Given the description of an element on the screen output the (x, y) to click on. 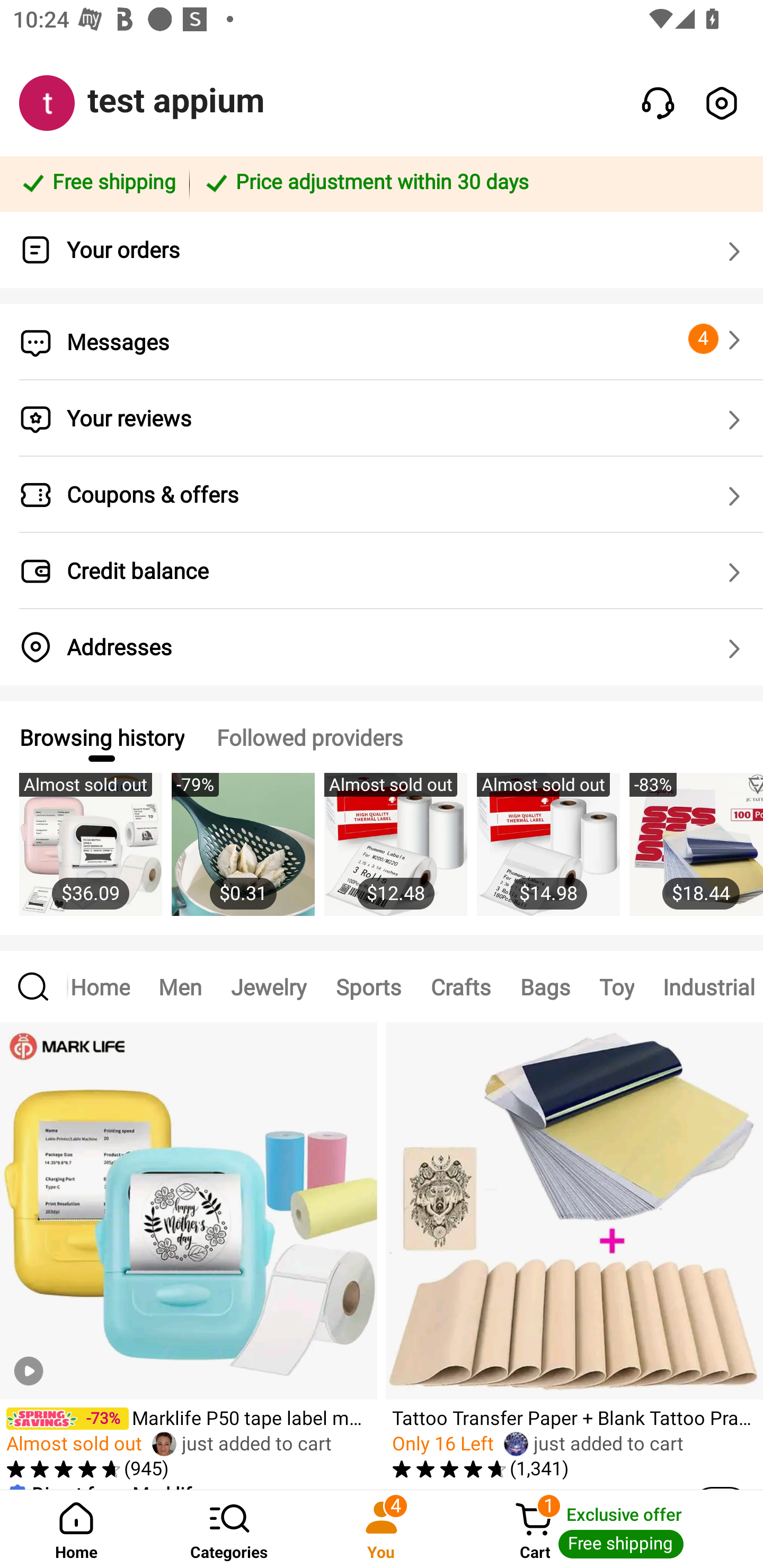
test appium (175, 100)
Free shipping (97, 183)
Price adjustment within 30 days (472, 183)
Your orders (381, 249)
Messages 4 (381, 342)
4 (717, 339)
Your reviews (381, 418)
Coupons & offers (381, 494)
Credit balance (381, 571)
Addresses (381, 647)
Browsing history (101, 736)
Followed providers (308, 736)
Almost sold out $36.09 (90, 853)
-79% $0.31 (242, 853)
Almost sold out $12.48 (395, 853)
Almost sold out $14.98 (547, 853)
-83% $18.44 (696, 853)
Home (106, 986)
Men (179, 986)
Jewelry (268, 986)
Sports (368, 986)
Crafts (460, 986)
Bags (544, 986)
Toy (616, 986)
Industrial (705, 986)
Home (76, 1528)
Categories (228, 1528)
You 4 You (381, 1528)
Cart 1 Cart Exclusive offer (610, 1528)
